Given the description of an element on the screen output the (x, y) to click on. 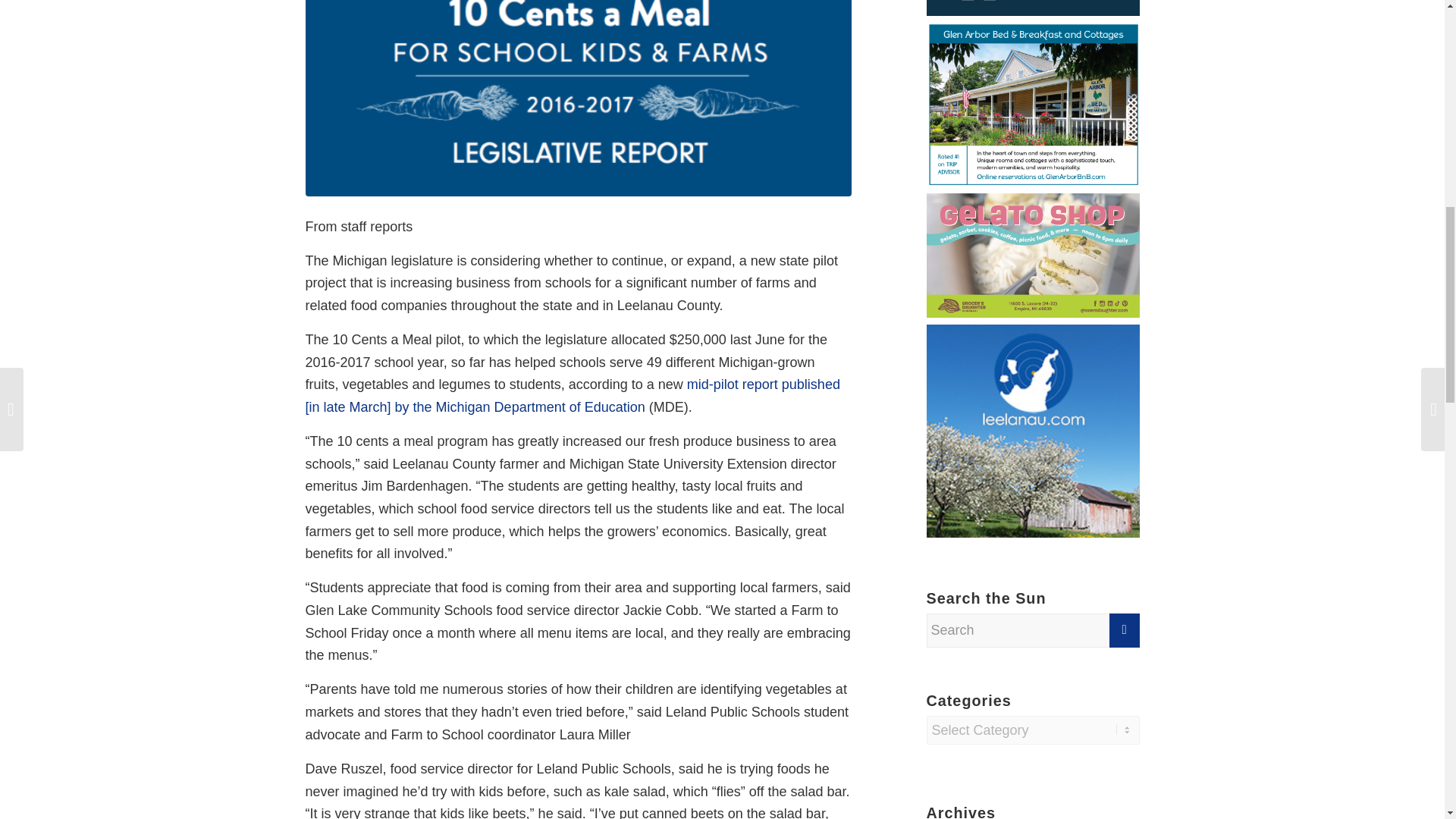
10CentsReport-CoverPage (577, 98)
